Given the description of an element on the screen output the (x, y) to click on. 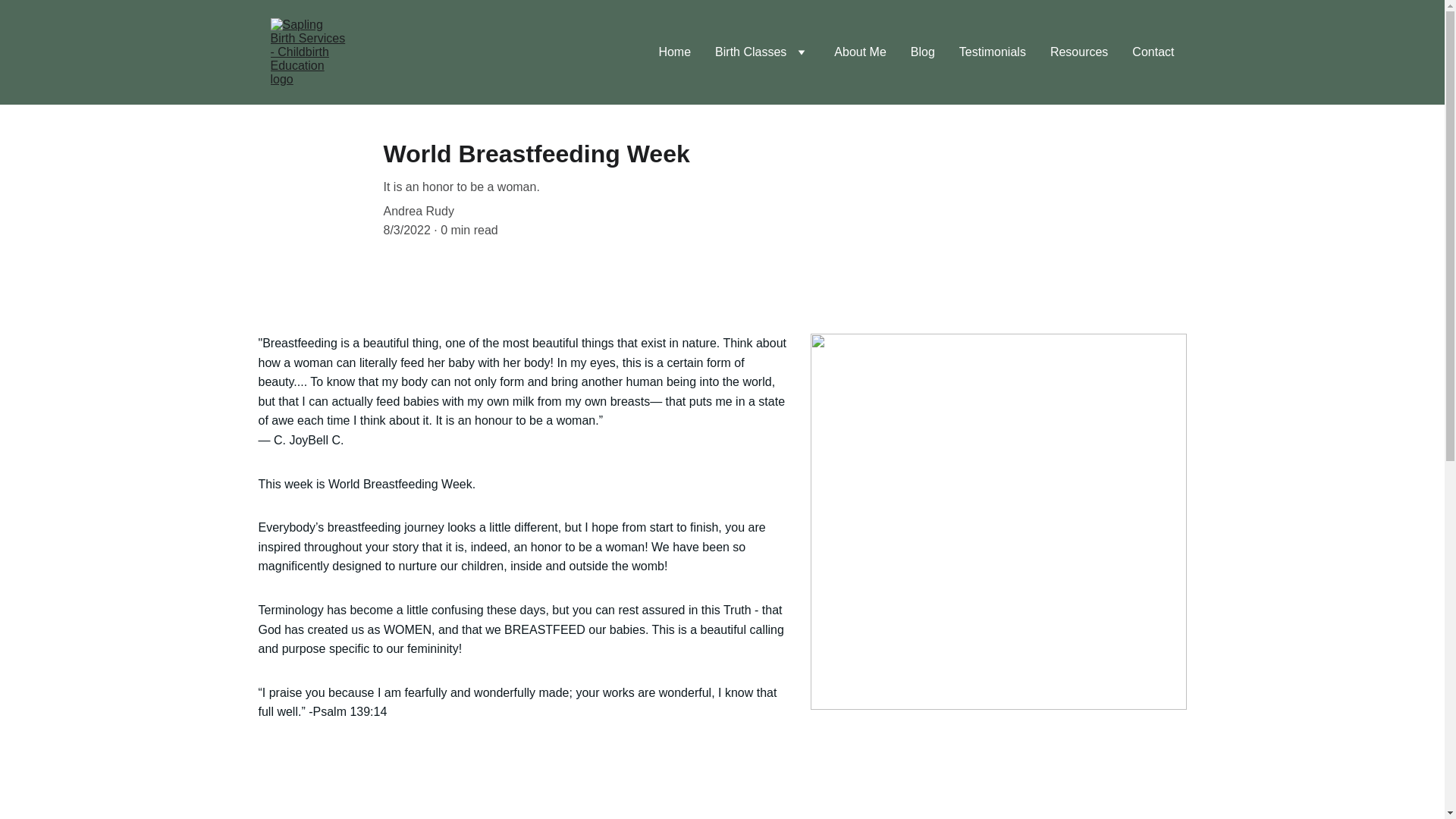
Blog (922, 52)
About Me (859, 52)
Testimonials (992, 52)
Birth Classes (750, 52)
Home (674, 52)
Resources (1078, 52)
Contact (1152, 52)
